Given the description of an element on the screen output the (x, y) to click on. 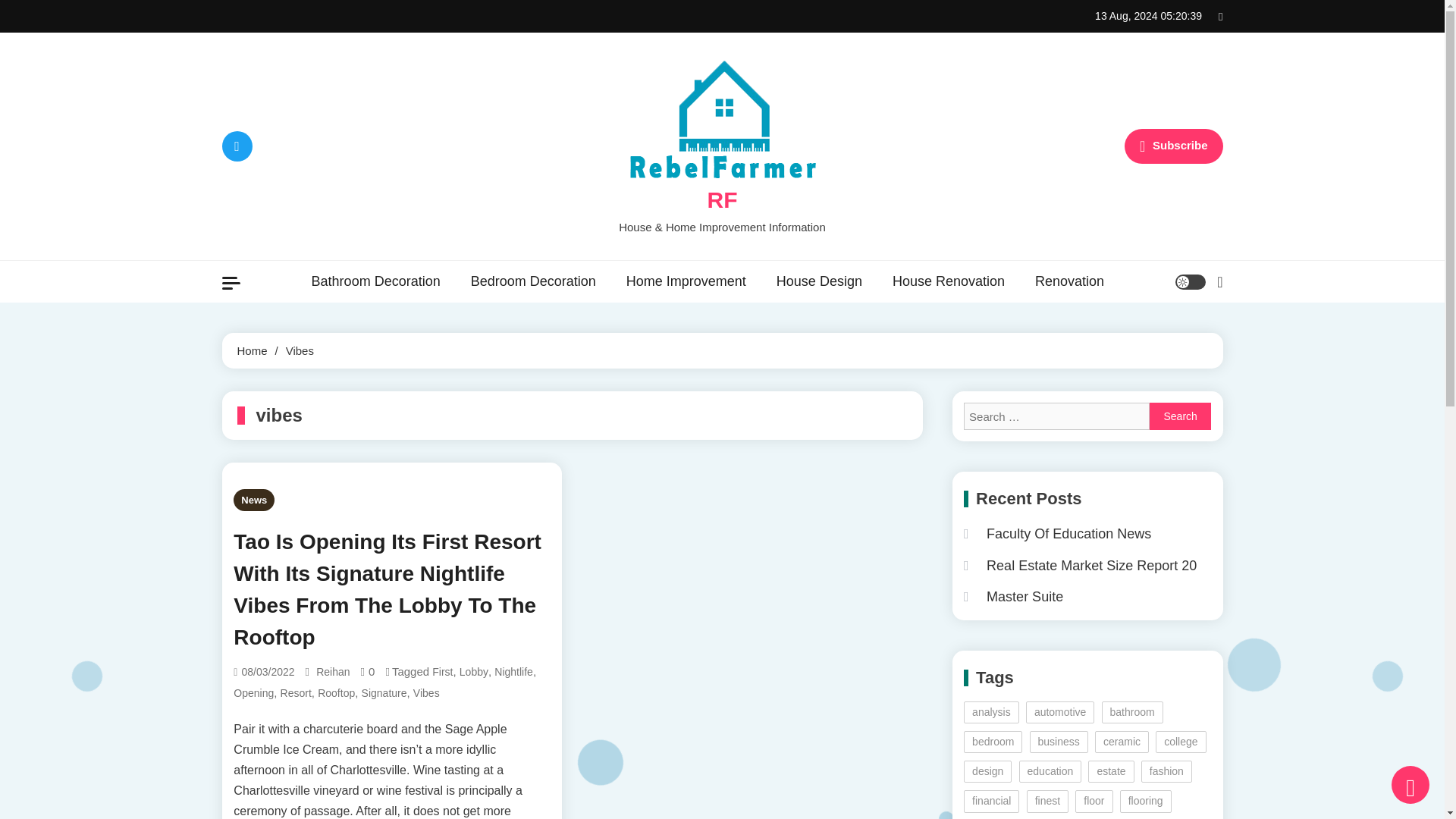
Renovation (1069, 281)
Search (1180, 338)
House Renovation (948, 281)
Bedroom Decoration (533, 281)
House Design (819, 281)
First (442, 671)
Reihan (332, 671)
Faculty Of Education News (1057, 534)
News (253, 499)
Bathroom Decoration (376, 281)
